Given the description of an element on the screen output the (x, y) to click on. 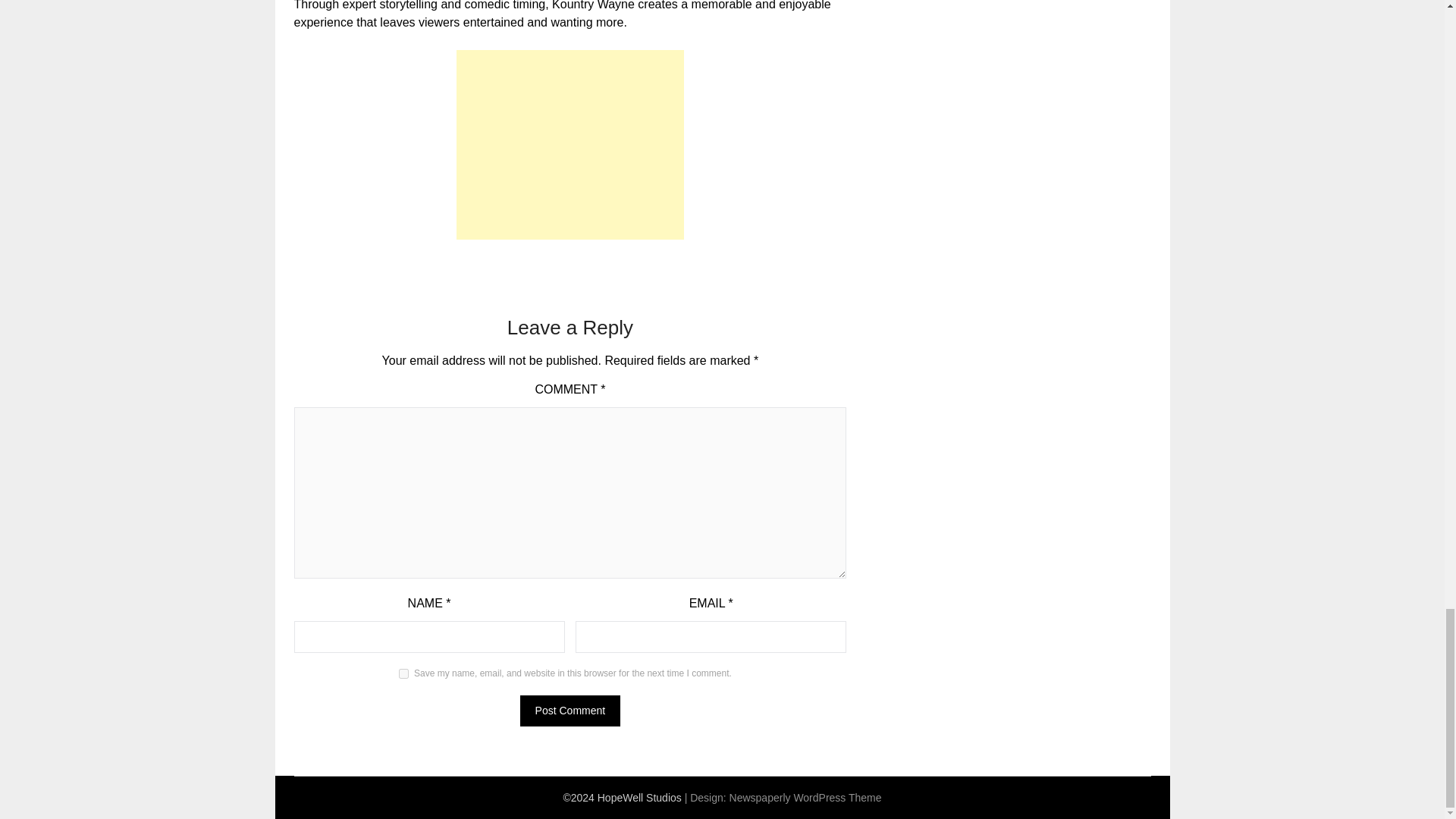
Newspaperly WordPress Theme (805, 797)
Advertisement (570, 144)
Post Comment (570, 710)
yes (403, 673)
Post Comment (570, 710)
